Given the description of an element on the screen output the (x, y) to click on. 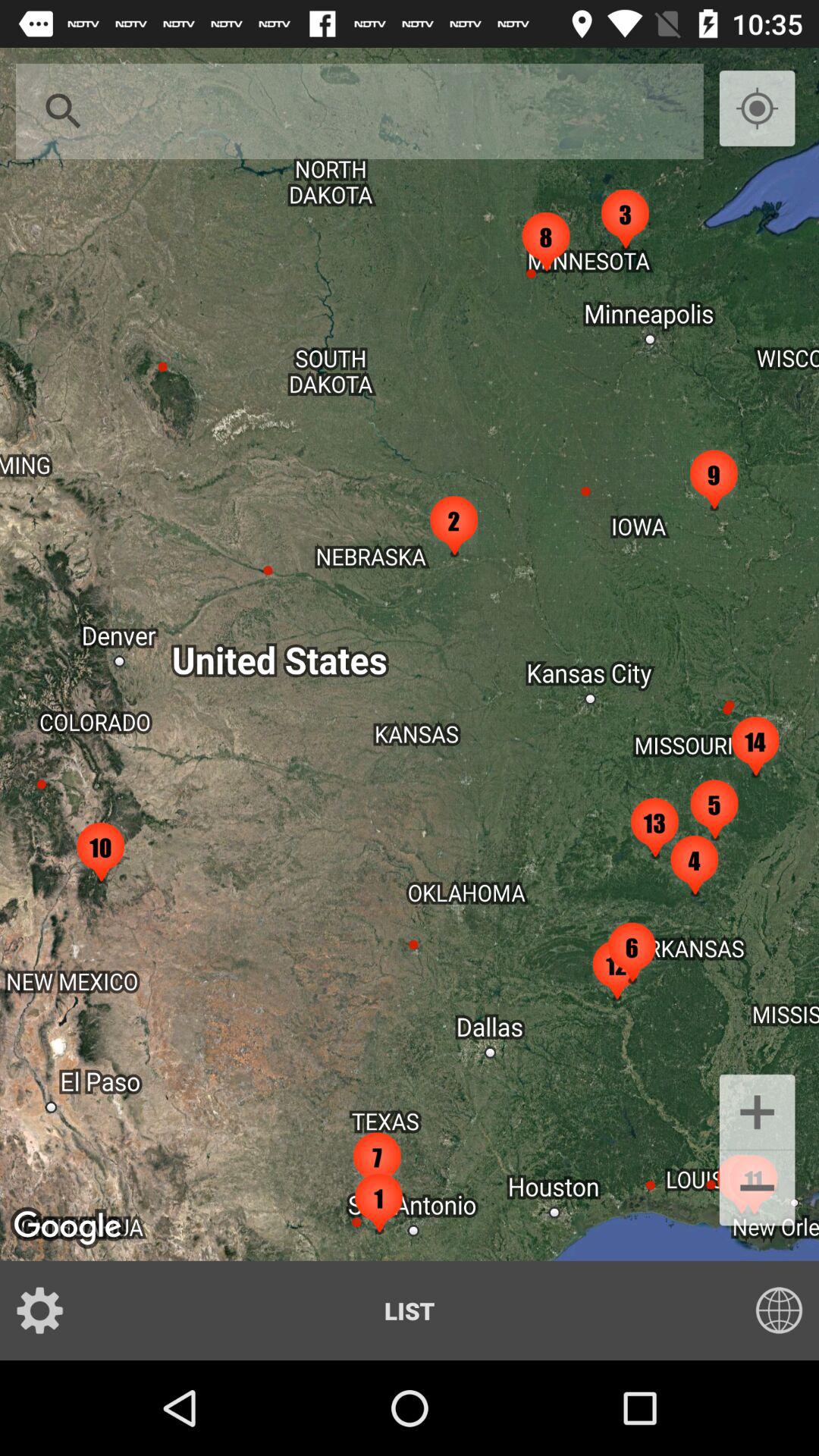
choose the icon to the right of list item (769, 1310)
